Given the description of an element on the screen output the (x, y) to click on. 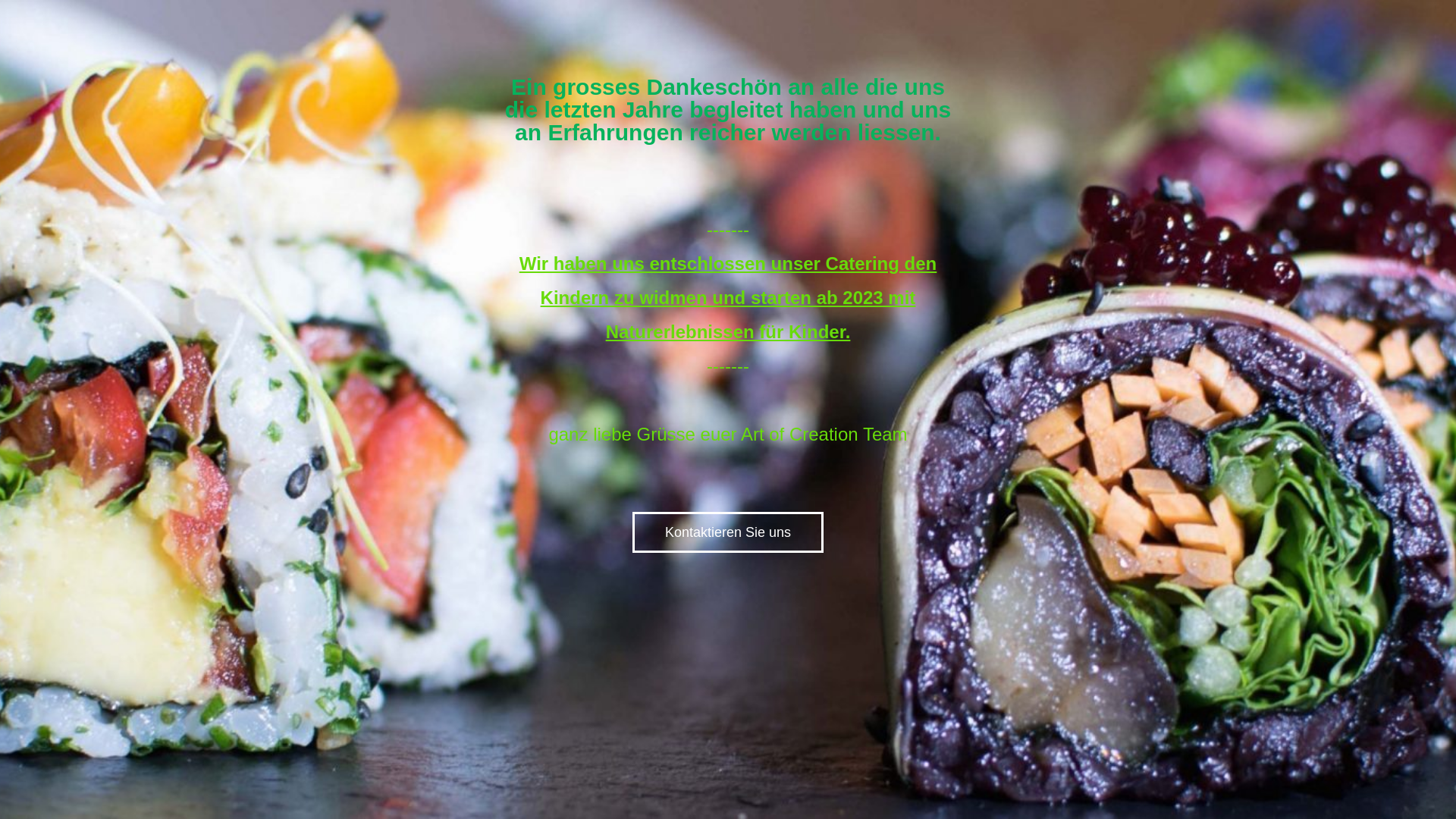
Kontaktieren Sie uns Element type: text (727, 531)
